Given the description of an element on the screen output the (x, y) to click on. 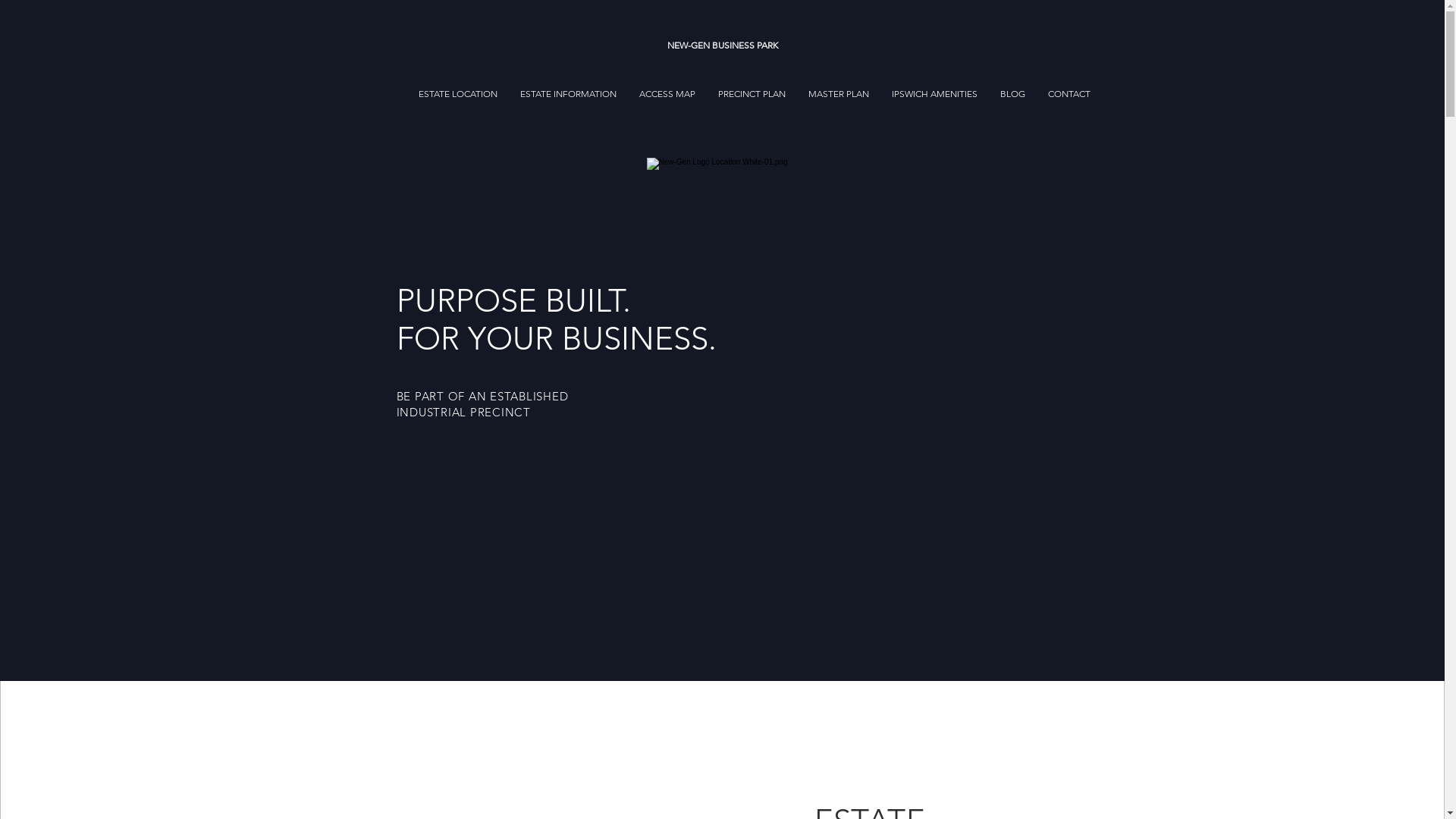
PRECINCT PLAN Element type: text (751, 93)
NEW-GEN BUSINESS PARK Element type: text (721, 45)
CONTACT Element type: text (1068, 93)
BLOG Element type: text (1012, 93)
ACCESS MAP Element type: text (666, 93)
MASTER PLAN Element type: text (838, 93)
ESTATE LOCATION Element type: text (457, 93)
ESTATE INFORMATION Element type: text (567, 93)
IPSWICH AMENITIES Element type: text (934, 93)
